Given the description of an element on the screen output the (x, y) to click on. 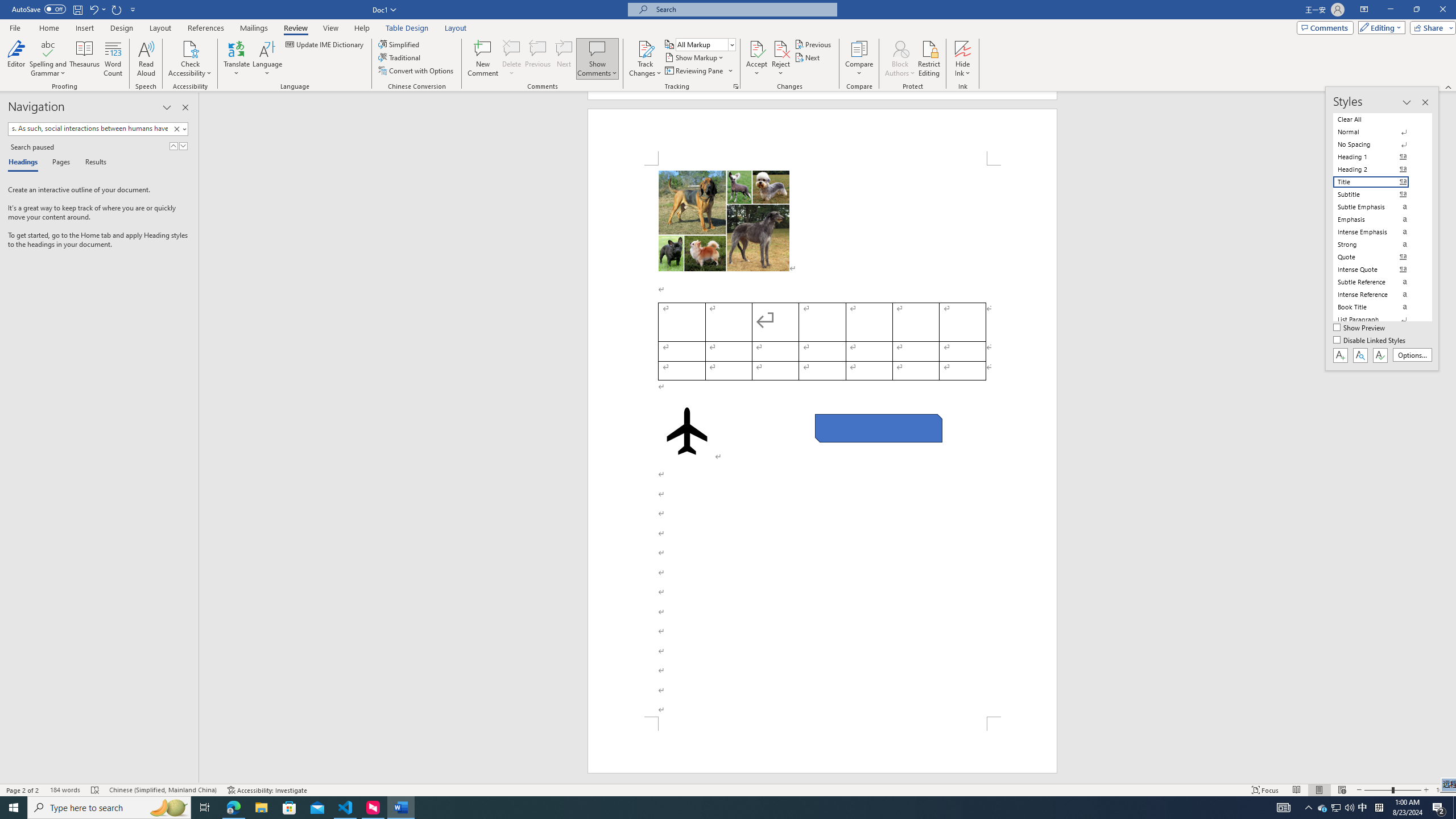
Options... (1412, 354)
Delete (511, 48)
Check Accessibility (189, 58)
Check Accessibility (189, 48)
Read Aloud (145, 58)
Intense Emphasis (1377, 232)
Strong (1377, 244)
Class: NetUIButton (1380, 355)
